Given the description of an element on the screen output the (x, y) to click on. 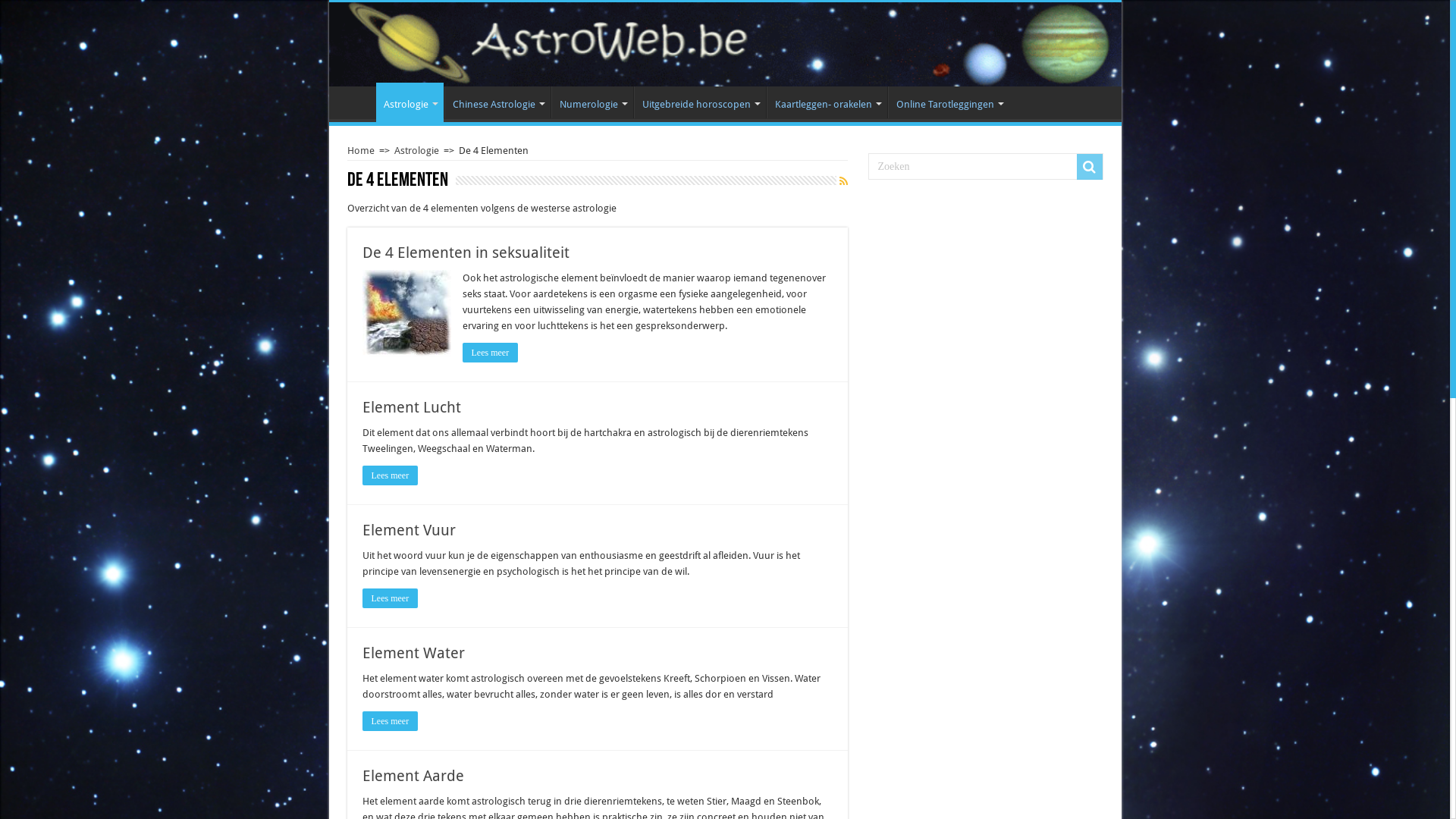
AstroWeb Element type: hover (725, 44)
Kaartleggen- orakelen Element type: text (825, 102)
Numerologie Element type: text (591, 102)
Lees meer Element type: text (490, 352)
Uitgebreide horoscopen Element type: text (699, 102)
Chinese Astrologie Element type: text (497, 102)
Online Tarotleggingen Element type: text (947, 102)
Element Water Element type: text (413, 652)
Lees meer Element type: text (390, 598)
Astrologie Element type: text (416, 150)
Lees meer Element type: text (390, 721)
De 4 Elementen in seksualiteit Element type: text (465, 252)
Home Element type: text (360, 150)
Zoeken Element type: text (1089, 166)
Astrologie Element type: text (409, 102)
Element Vuur Element type: text (408, 529)
Element Lucht Element type: text (411, 407)
Home Element type: text (356, 102)
Lees meer Element type: text (390, 475)
Element Aarde Element type: text (413, 775)
